Given the description of an element on the screen output the (x, y) to click on. 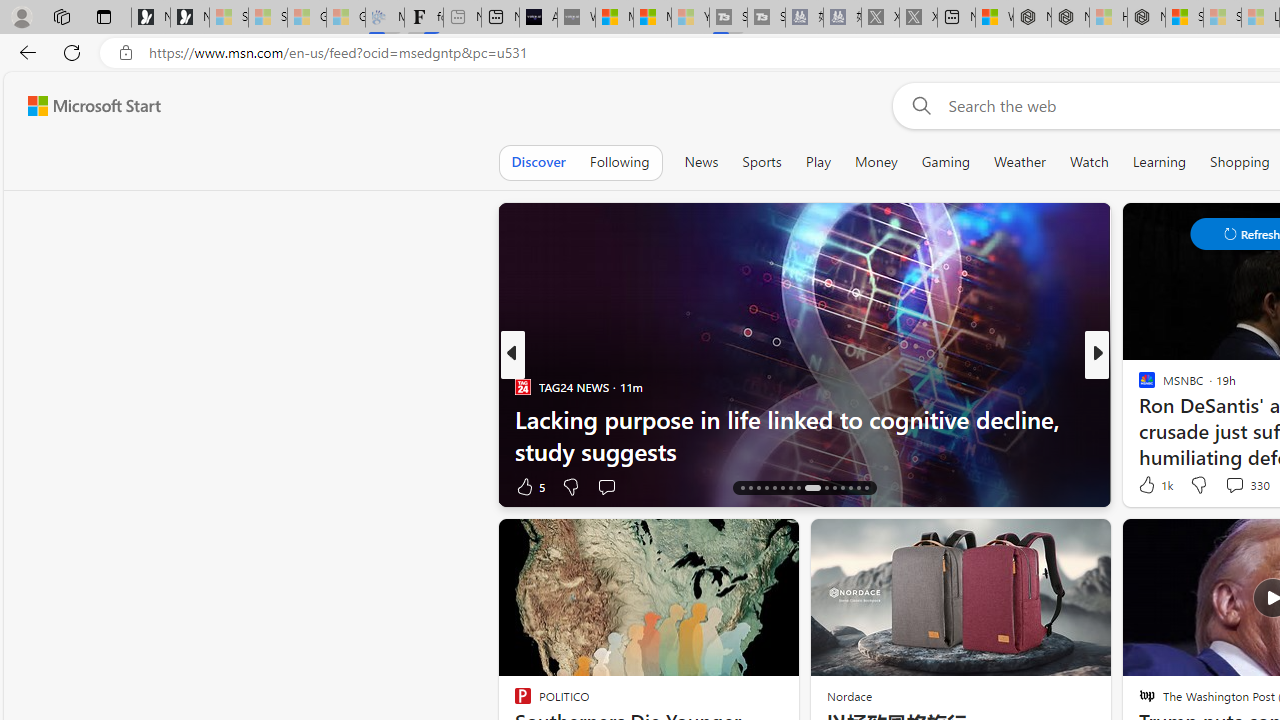
View comments 266 Comment (1234, 485)
Nordace - Nordace Siena Is Not An Ordinary Backpack (1145, 17)
Planning to Organize (1138, 386)
AutomationID: tab-28 (850, 487)
View comments 353 Comment (11, 485)
Shopping (1240, 161)
